Given the description of an element on the screen output the (x, y) to click on. 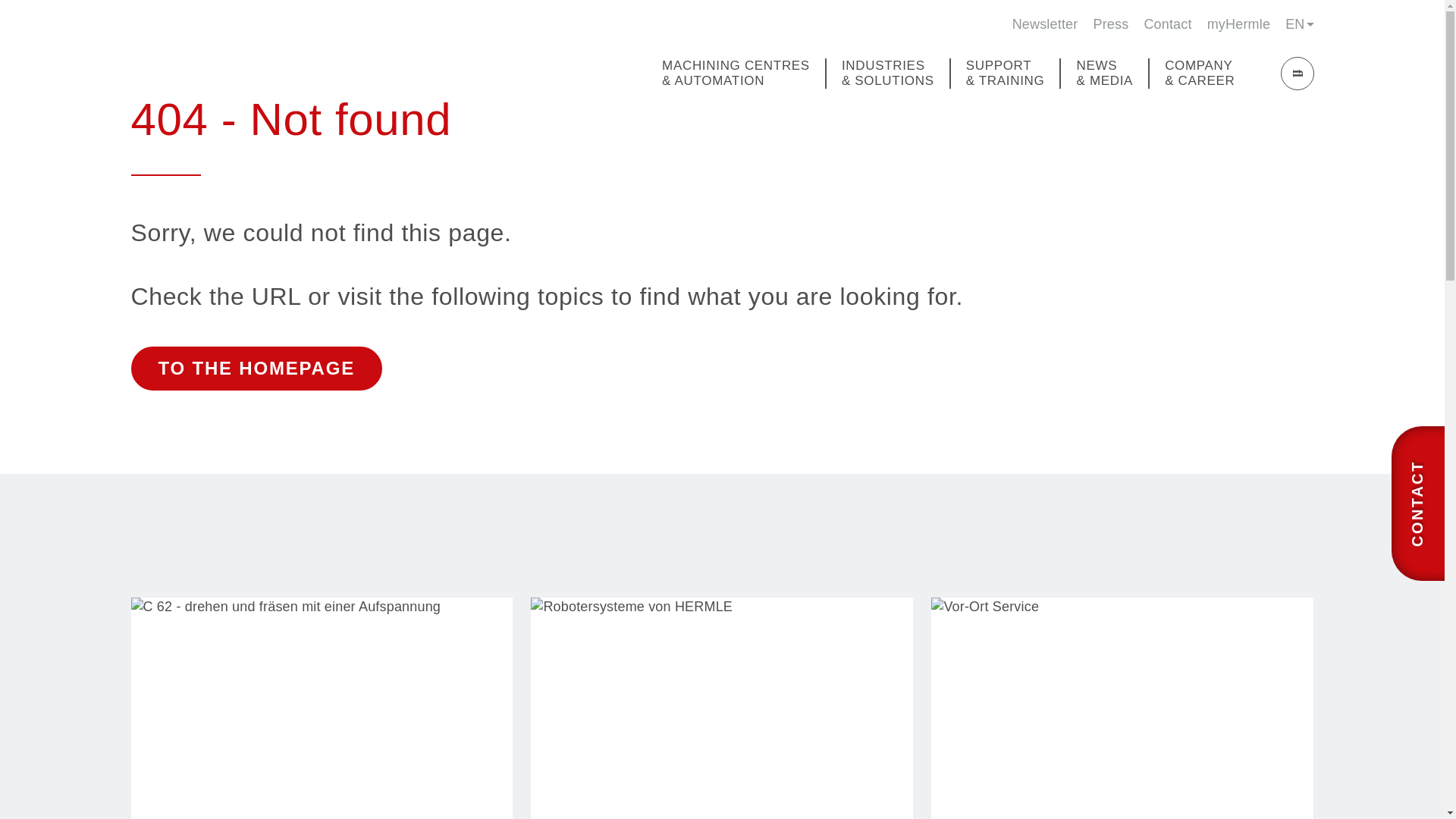
Press (1110, 23)
myHermle (1238, 23)
Contact (1166, 23)
myHermle (1238, 23)
Contact (1166, 23)
Press (1110, 23)
Newsletter (1044, 23)
Newsletter (1044, 23)
